Given the description of an element on the screen output the (x, y) to click on. 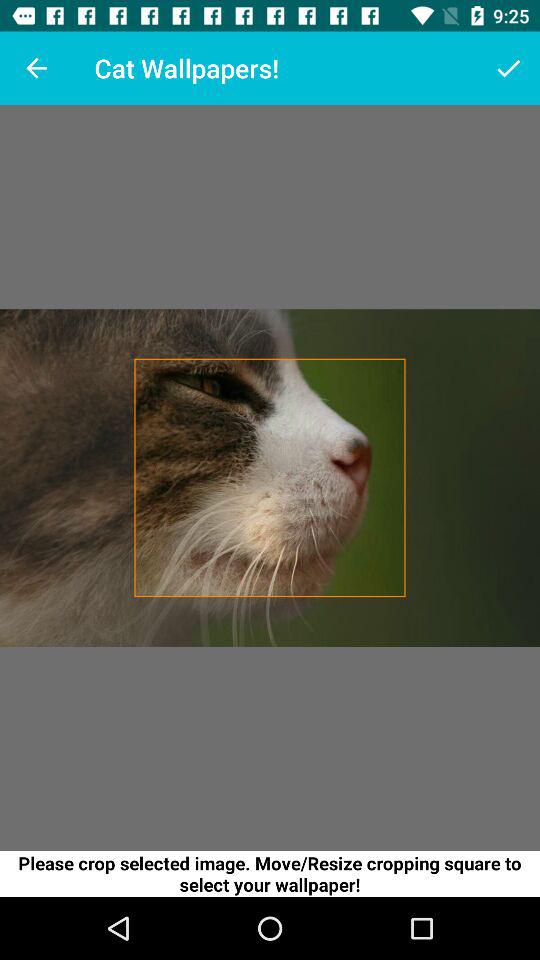
tap the item at the top right corner (508, 67)
